Given the description of an element on the screen output the (x, y) to click on. 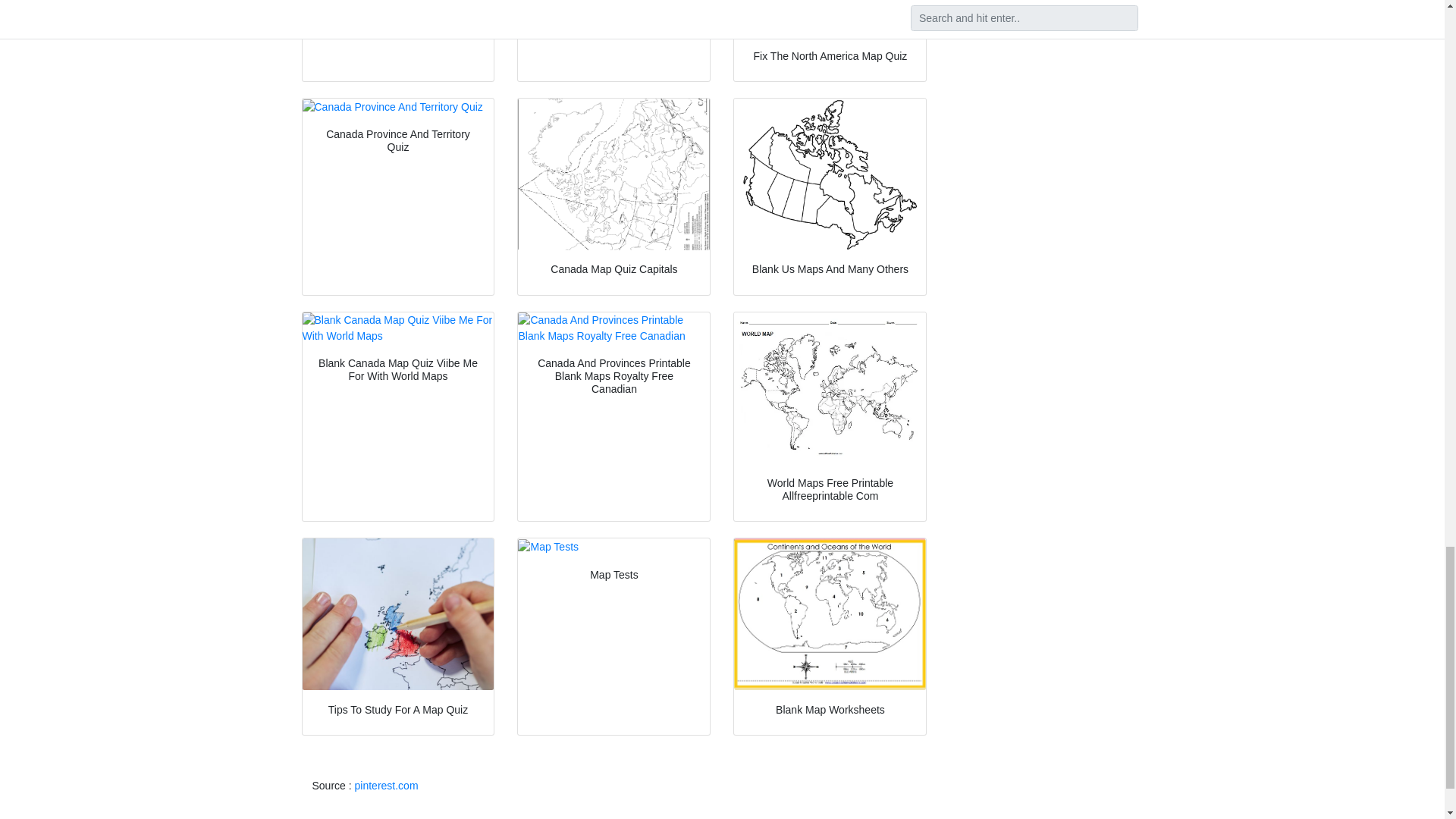
pinterest.com (387, 785)
